Given the description of an element on the screen output the (x, y) to click on. 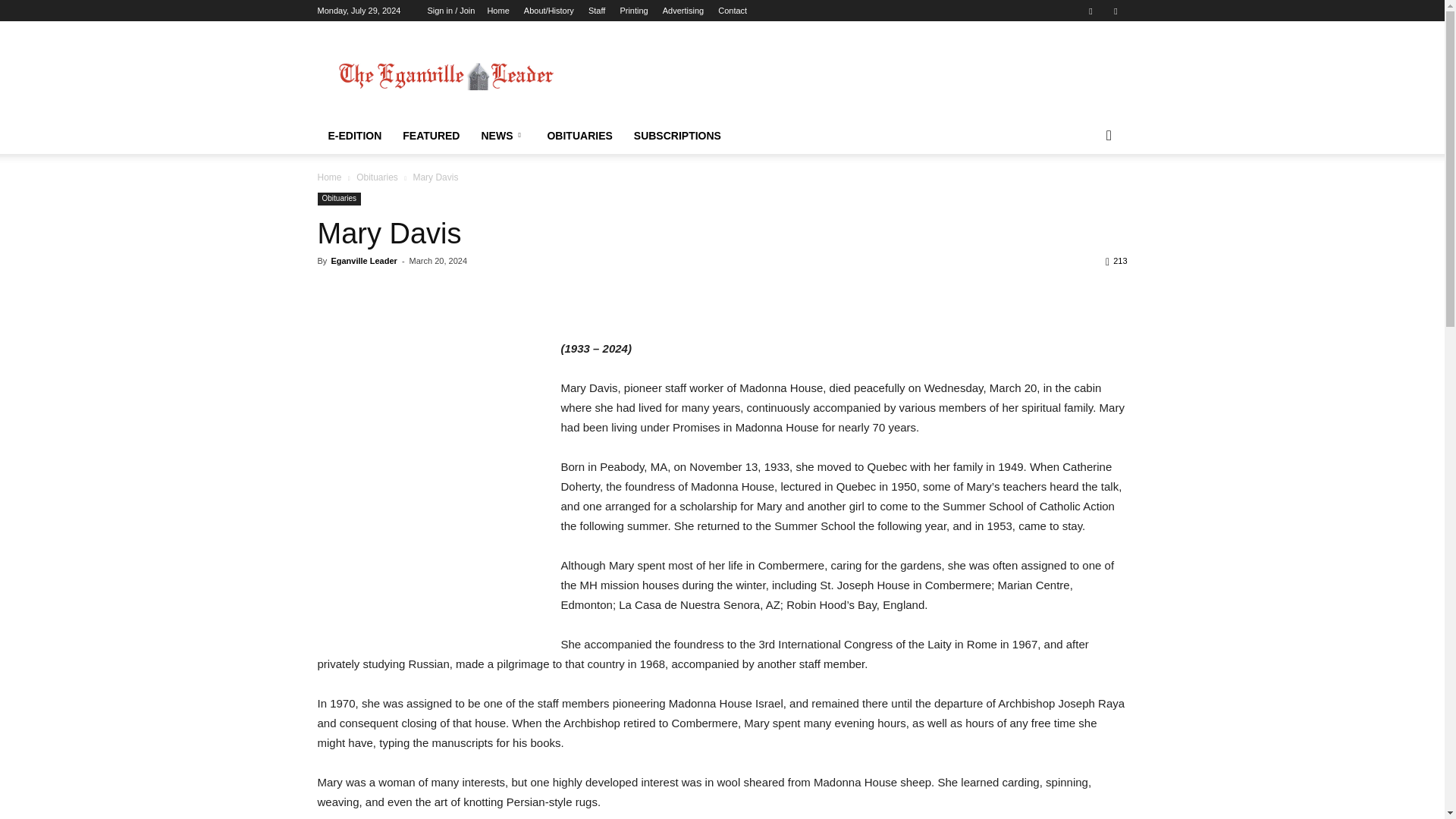
Advertising (682, 10)
Contact (731, 10)
Facebook (1090, 10)
Return to Home Page (445, 76)
Twitter (1114, 10)
E-EDITION (354, 135)
Staff (596, 10)
NEWS (502, 135)
View all posts in Obituaries (376, 176)
Printing (633, 10)
Home (497, 10)
FEATURED (430, 135)
